Given the description of an element on the screen output the (x, y) to click on. 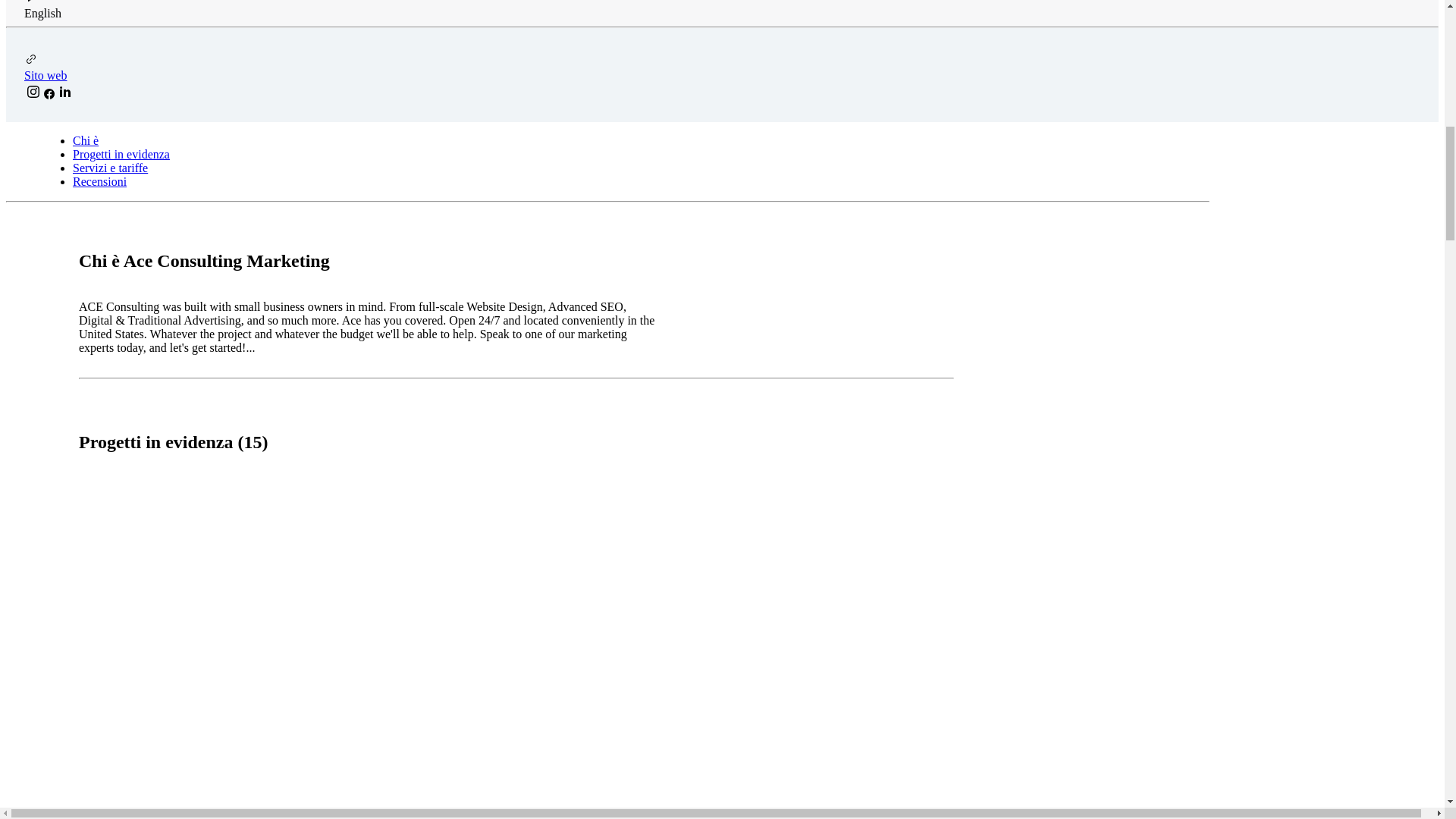
Recensioni (99, 181)
Sito web (45, 74)
Progetti in evidenza (121, 154)
Servizi e tariffe (110, 167)
